Given the description of an element on the screen output the (x, y) to click on. 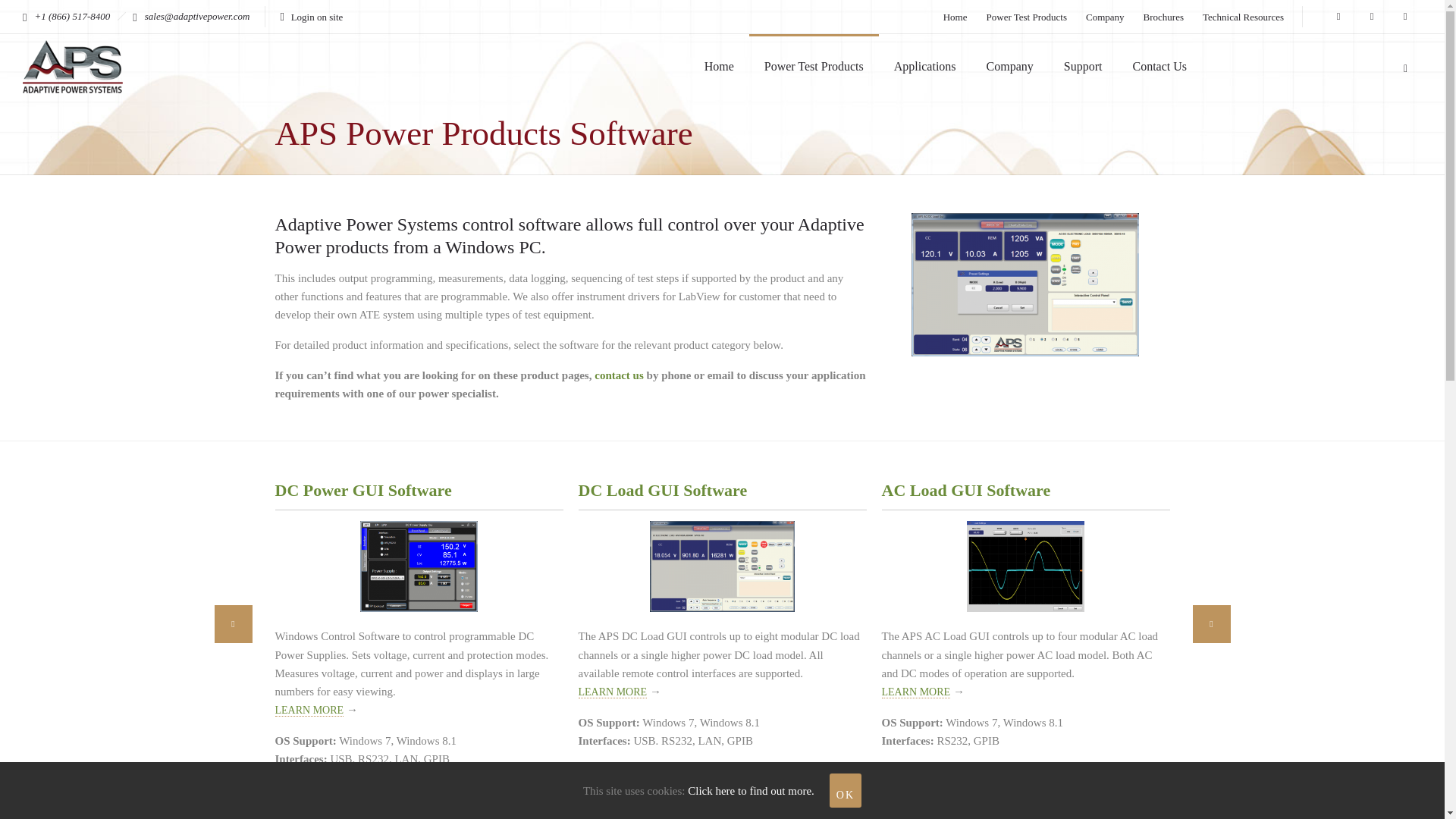
Power Test Products (1027, 17)
Login on site (311, 16)
Technical Resources (1243, 17)
Company (1105, 17)
Power Test Products (814, 66)
Previous slide (232, 623)
Brochures (1162, 17)
Home (955, 17)
Next slide (1211, 623)
Home (718, 66)
